Given the description of an element on the screen output the (x, y) to click on. 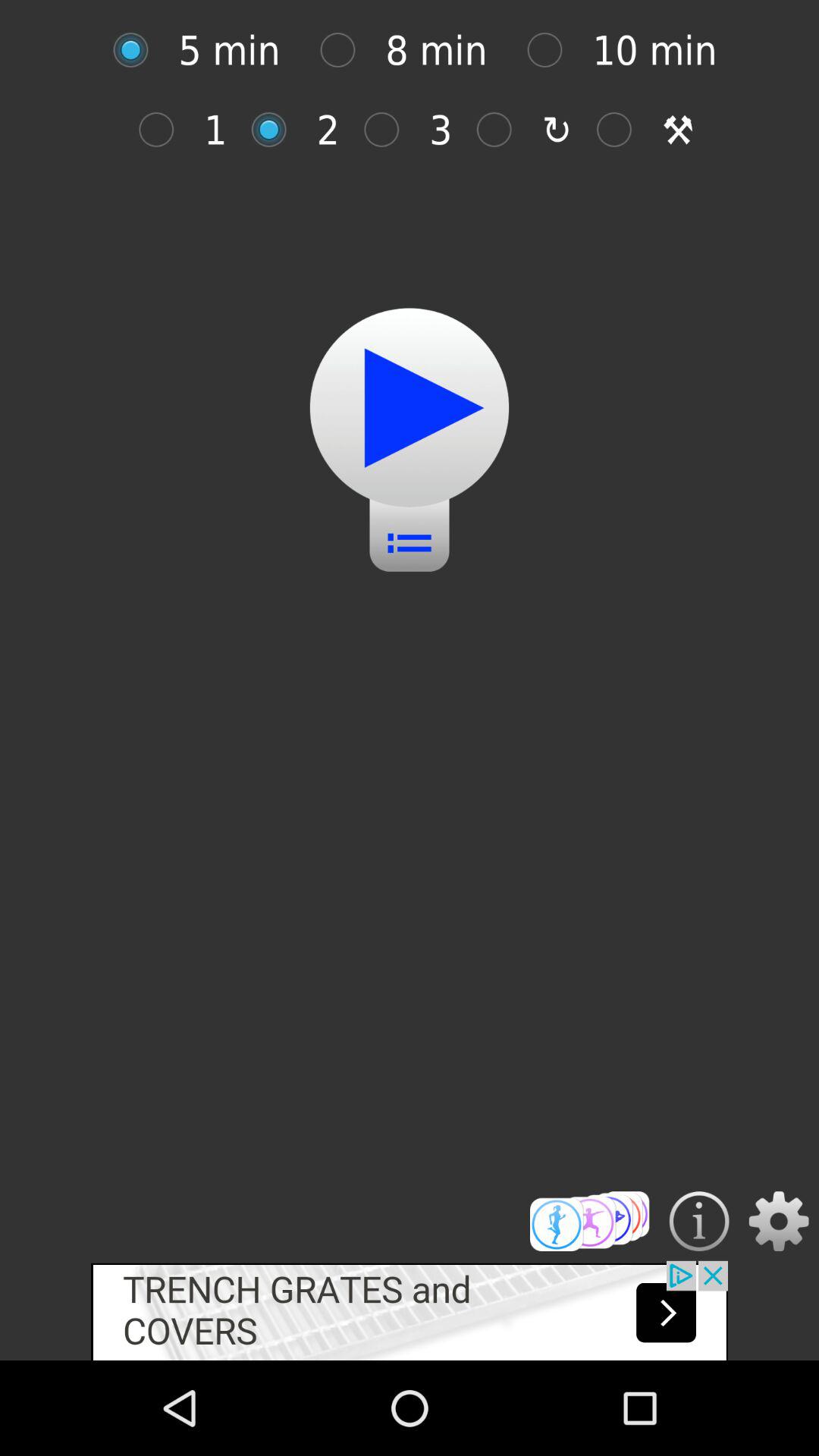
click to play (409, 407)
